Given the description of an element on the screen output the (x, y) to click on. 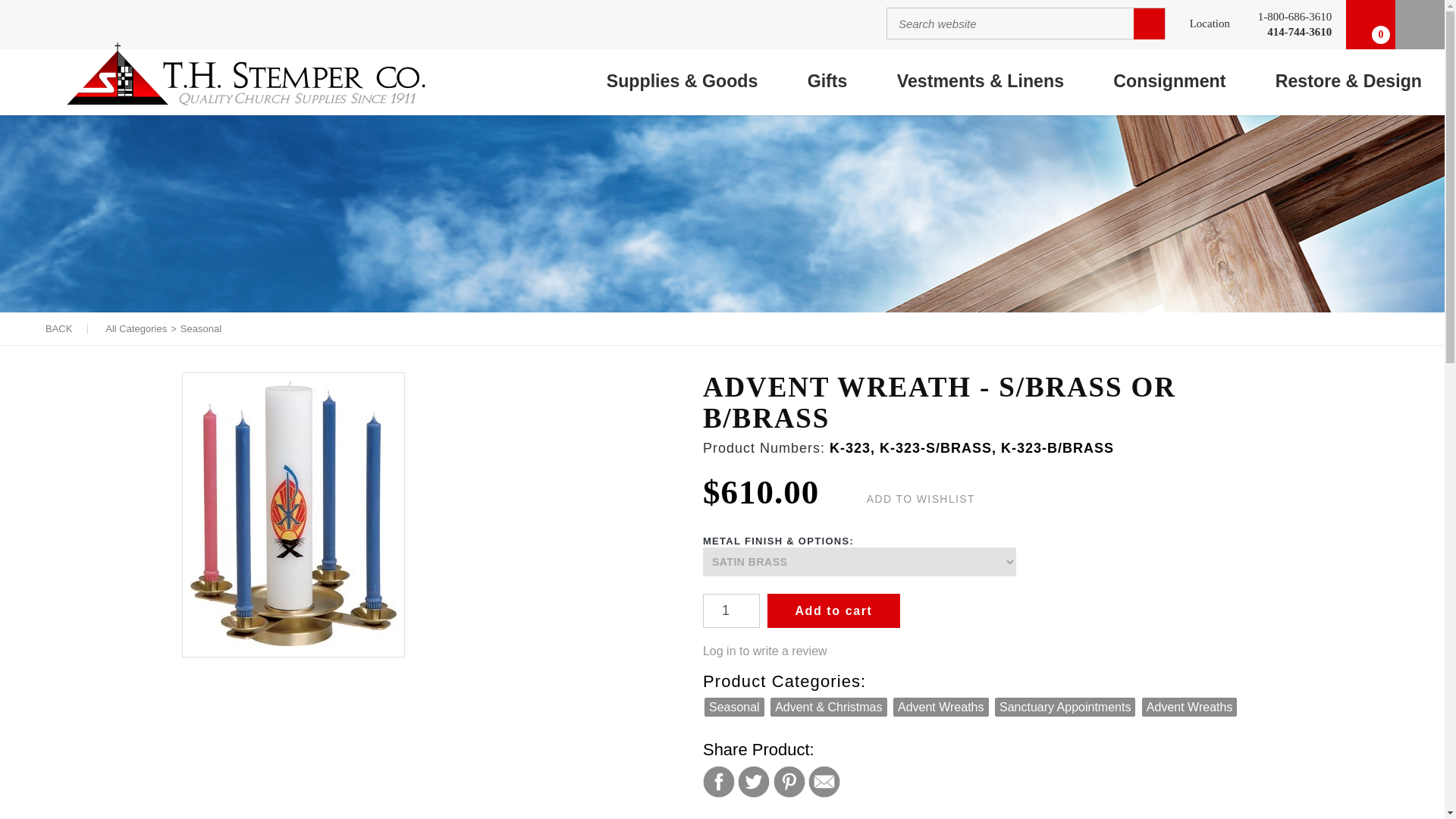
Consignment (1168, 82)
414-744-3610 (1294, 32)
Search (1149, 23)
0 (1369, 24)
1-800-686-3610 (1294, 17)
1 (731, 610)
Location (1209, 24)
Gifts (827, 82)
